Given the description of an element on the screen output the (x, y) to click on. 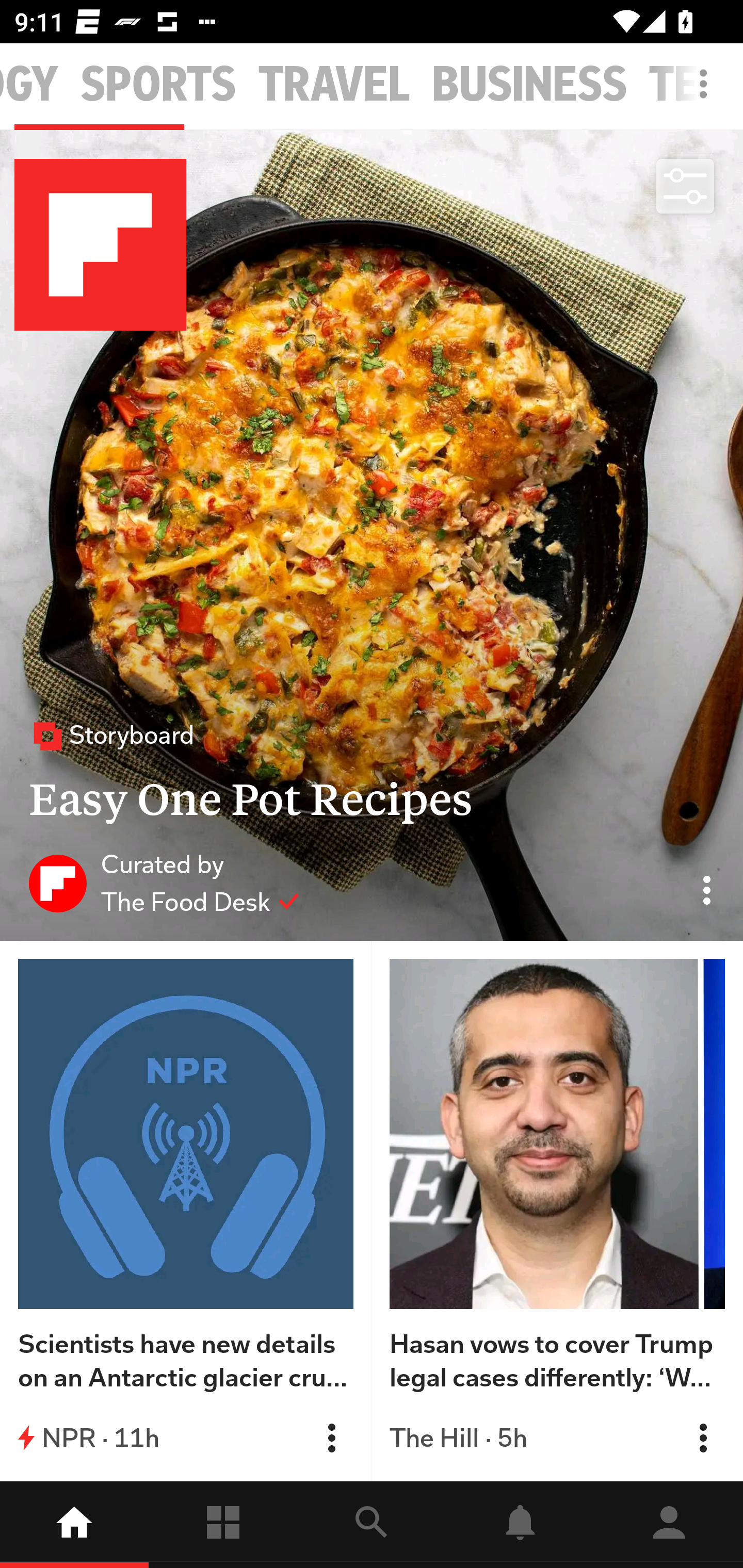
SPORTS (158, 84)
TRAVEL (334, 84)
BUSINESS (529, 84)
More options (706, 93)
Curated by The Food Desk (163, 882)
NPR · 11h Flip into Magazine (185, 1437)
The Hill · 5h Flip into Magazine (557, 1437)
Flip into Magazine (331, 1437)
Flip into Magazine (703, 1437)
home (74, 1524)
Following (222, 1524)
explore (371, 1524)
Notifications (519, 1524)
Profile (668, 1524)
